Given the description of an element on the screen output the (x, y) to click on. 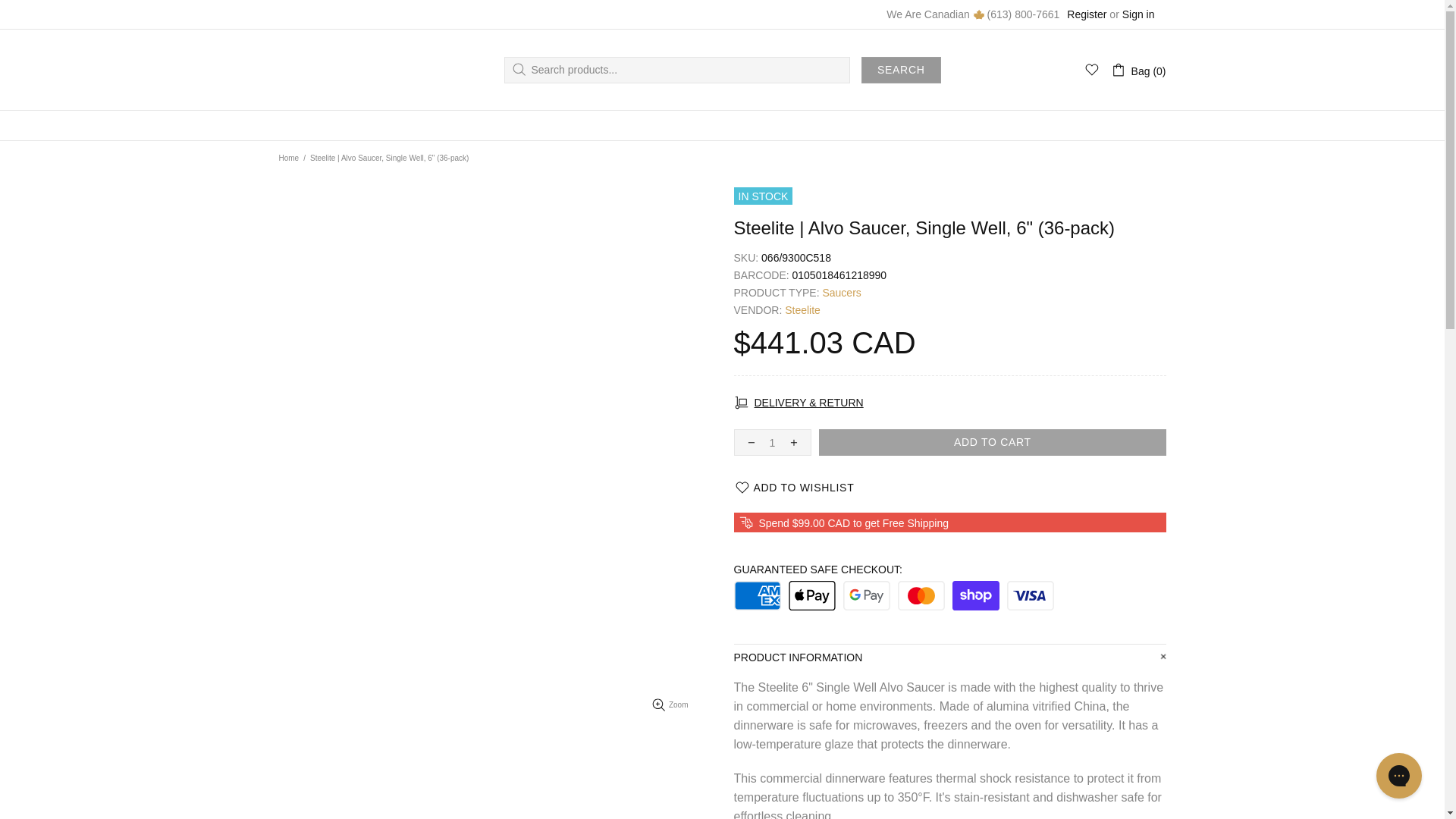
Sign in (1138, 14)
Gorgias live chat messenger (1398, 775)
SEARCH (900, 69)
ChefEquipment.com (336, 69)
1 (771, 442)
Register (1086, 14)
